Given the description of an element on the screen output the (x, y) to click on. 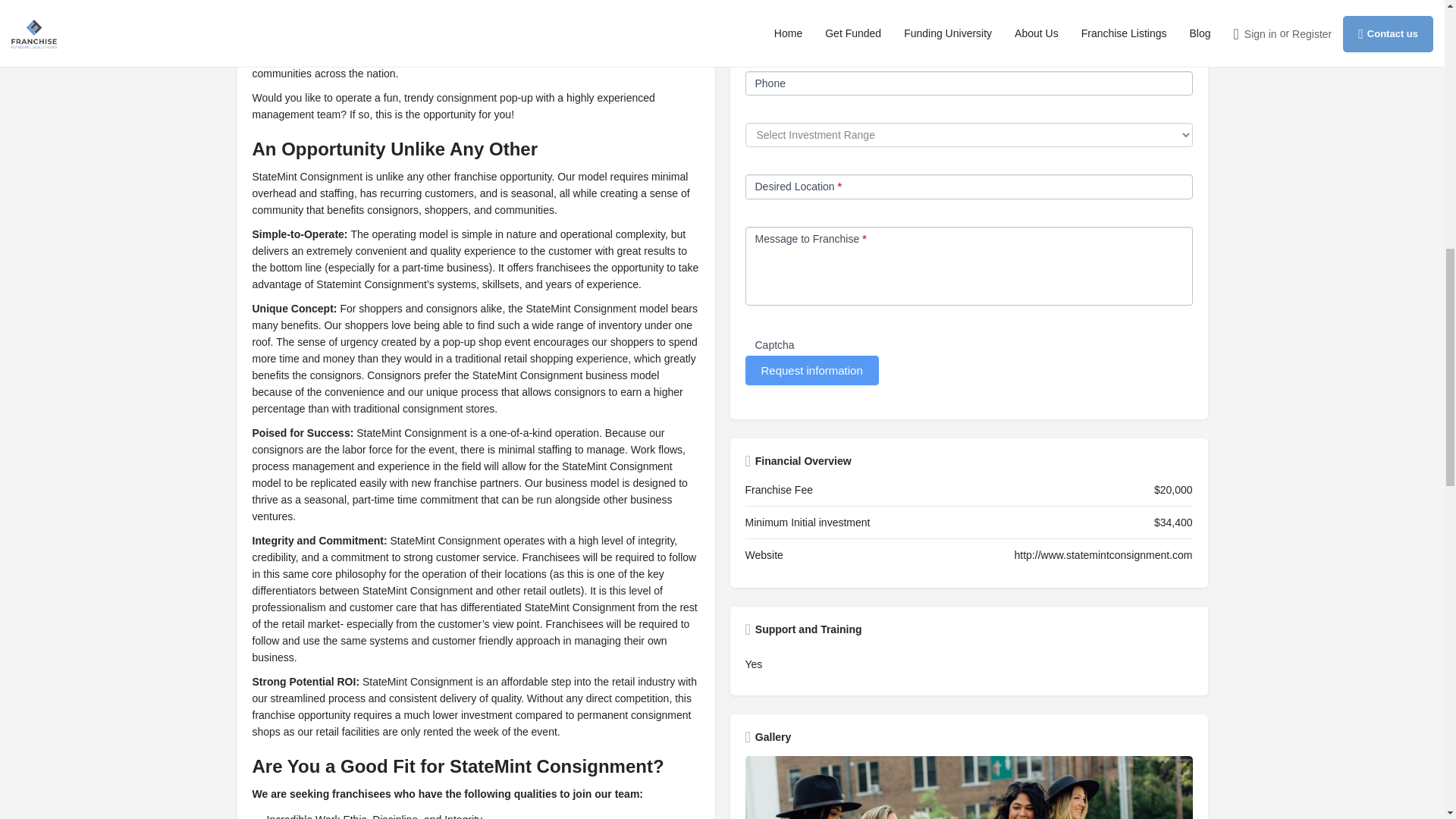
Request information (810, 369)
